Given the description of an element on the screen output the (x, y) to click on. 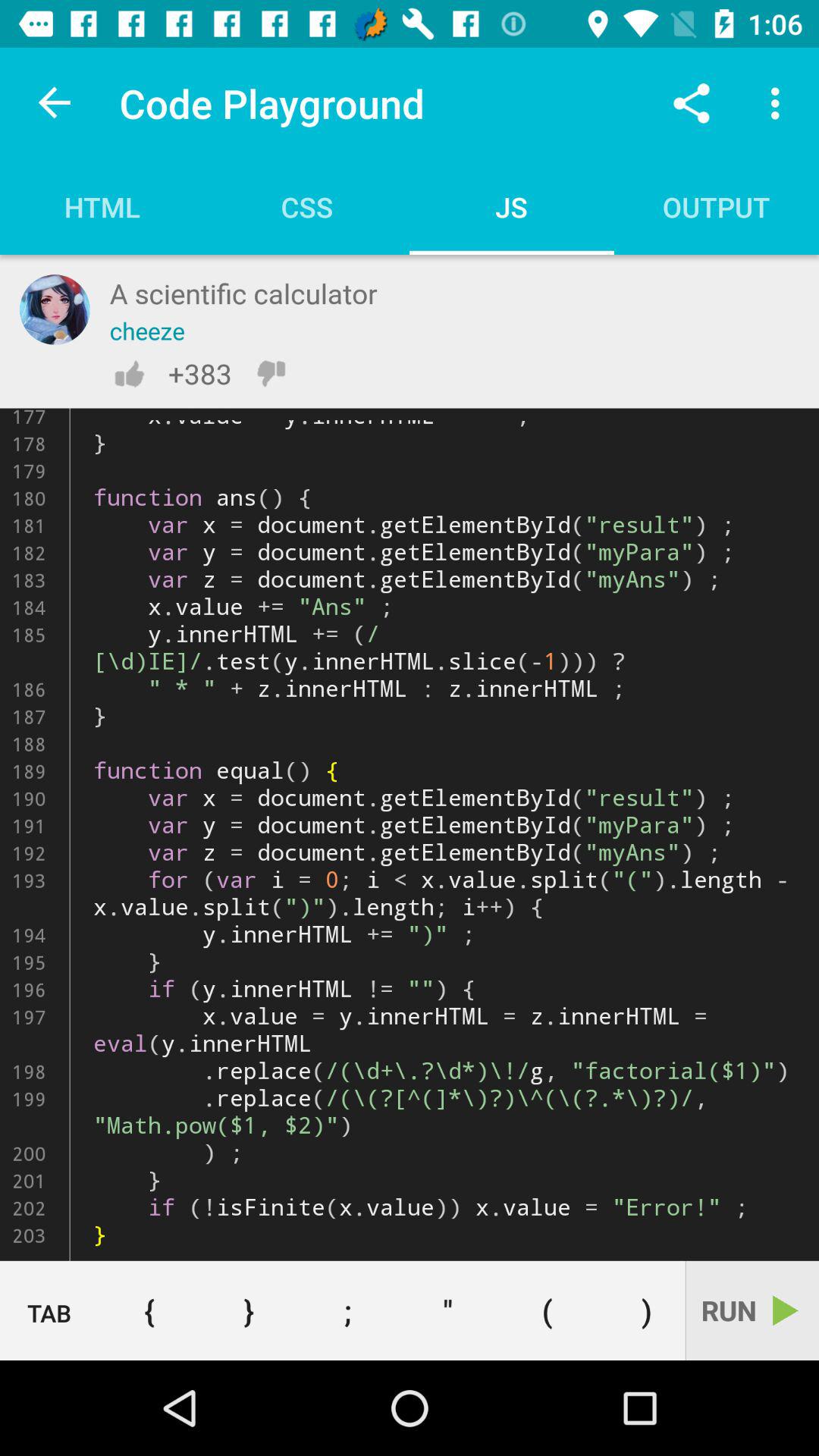
user avatar (54, 309)
